Given the description of an element on the screen output the (x, y) to click on. 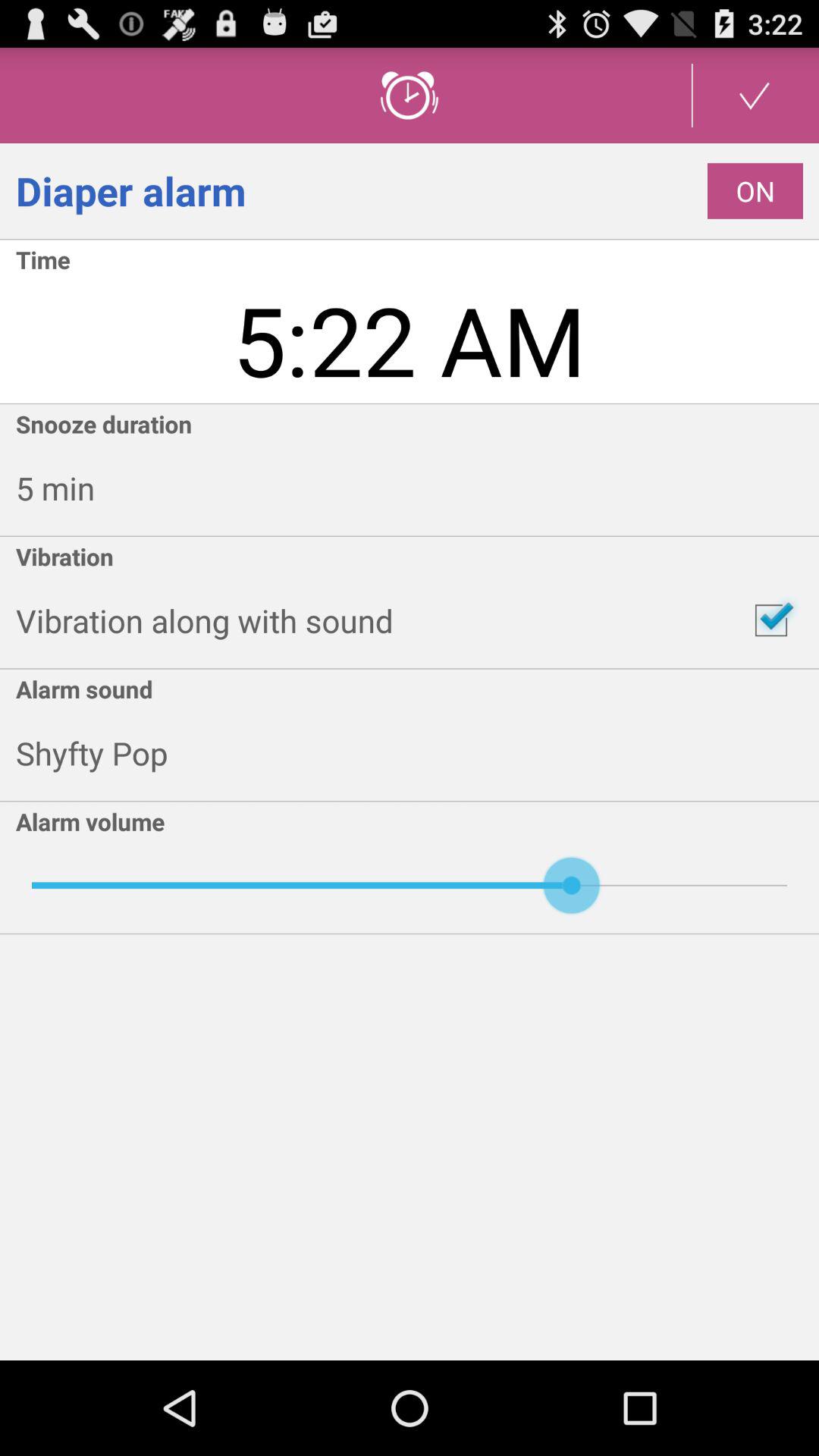
confirm alarm (755, 95)
